Given the description of an element on the screen output the (x, y) to click on. 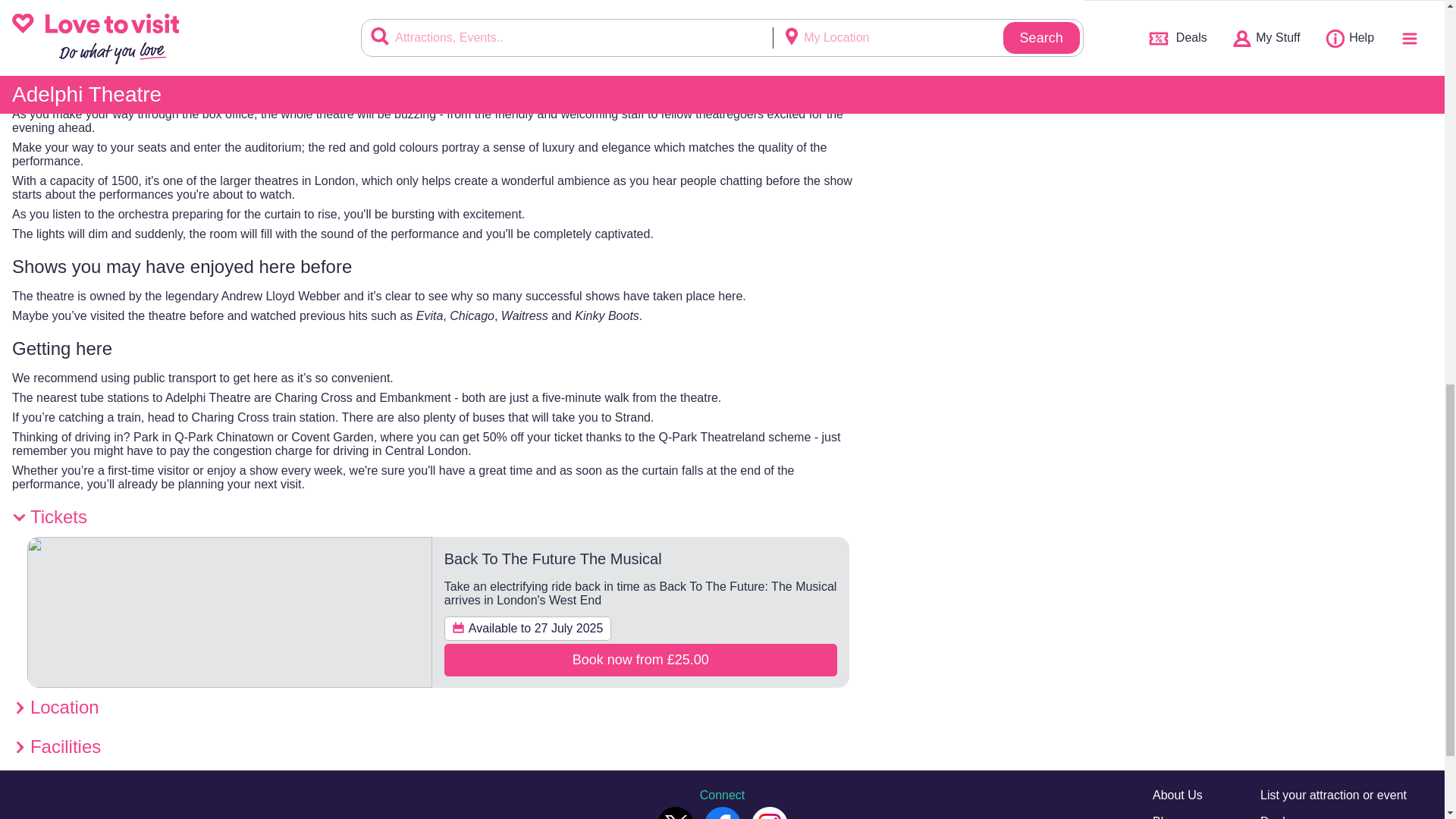
List your attraction or event (1333, 794)
Location (437, 707)
Back To The Future The Musical (553, 558)
Tickets (437, 517)
Facilities (437, 746)
About Us (1177, 794)
